Given the description of an element on the screen output the (x, y) to click on. 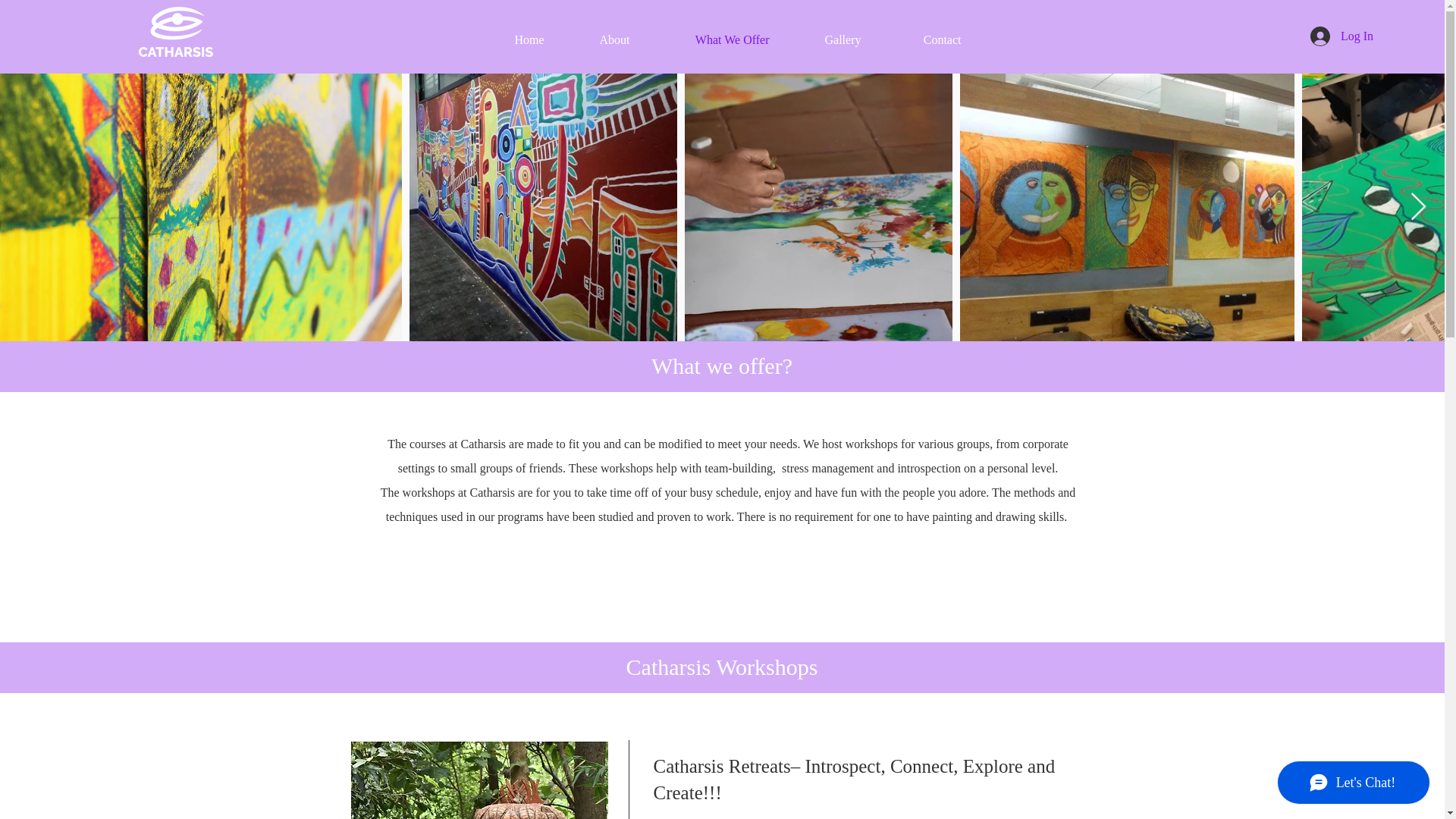
Home (512, 39)
Gallery (826, 39)
What We Offer (711, 39)
Contact (922, 39)
About (597, 39)
Log In (1342, 36)
